Given the description of an element on the screen output the (x, y) to click on. 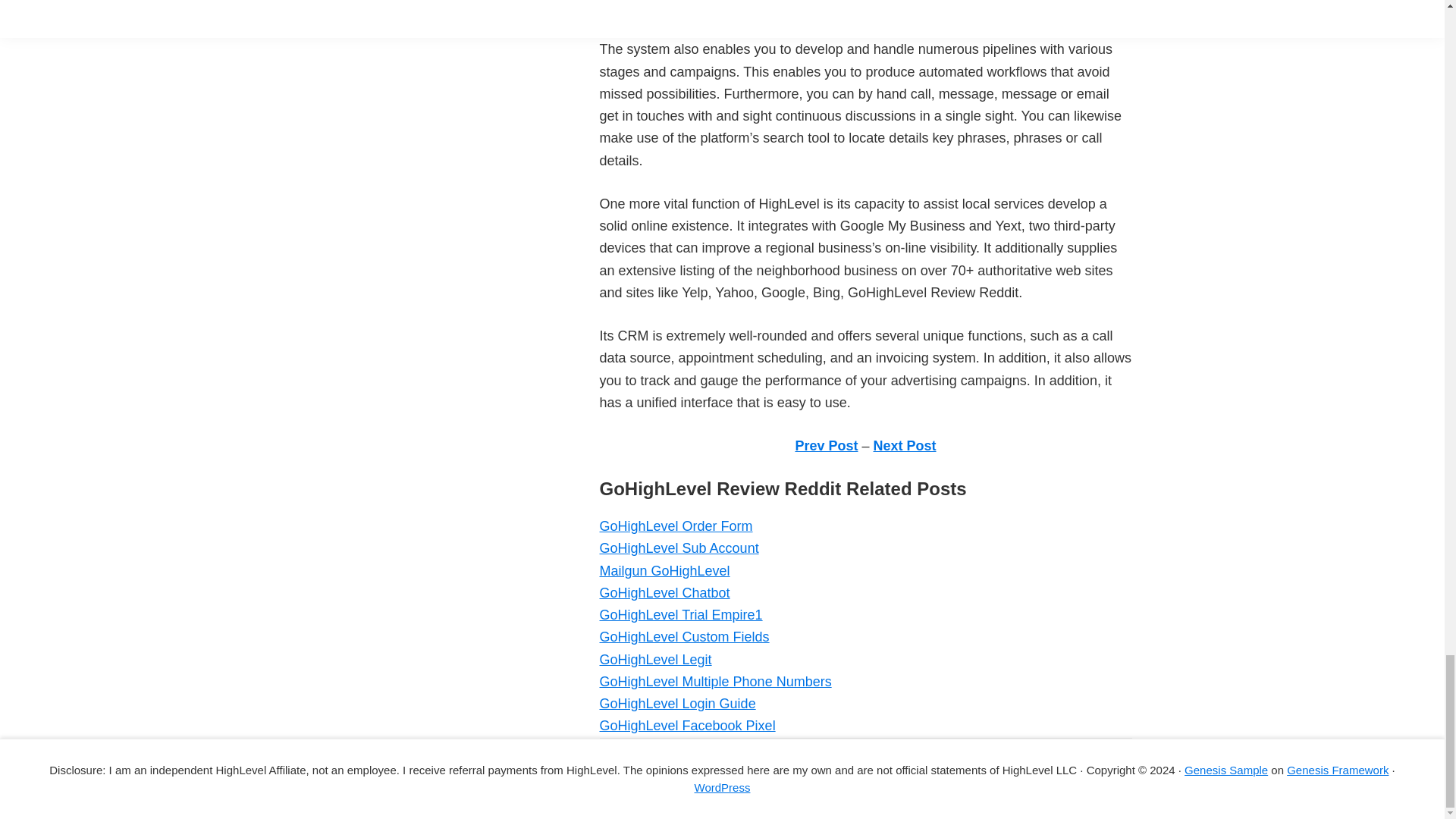
Mailgun GoHighLevel (663, 570)
GoHighLevel Chatbot (663, 592)
GoHighLevel Legit (654, 659)
GoHighLevel Sub Account (678, 548)
GoHighLevel Facebook Pixel (686, 725)
GoHighLevel Custom Fields (683, 636)
GoHighLevel Login Guide (676, 703)
GoHighLevel Login Guide (676, 703)
Prev Post (825, 445)
GoHighLevel Custom Fields (683, 636)
